Given the description of an element on the screen output the (x, y) to click on. 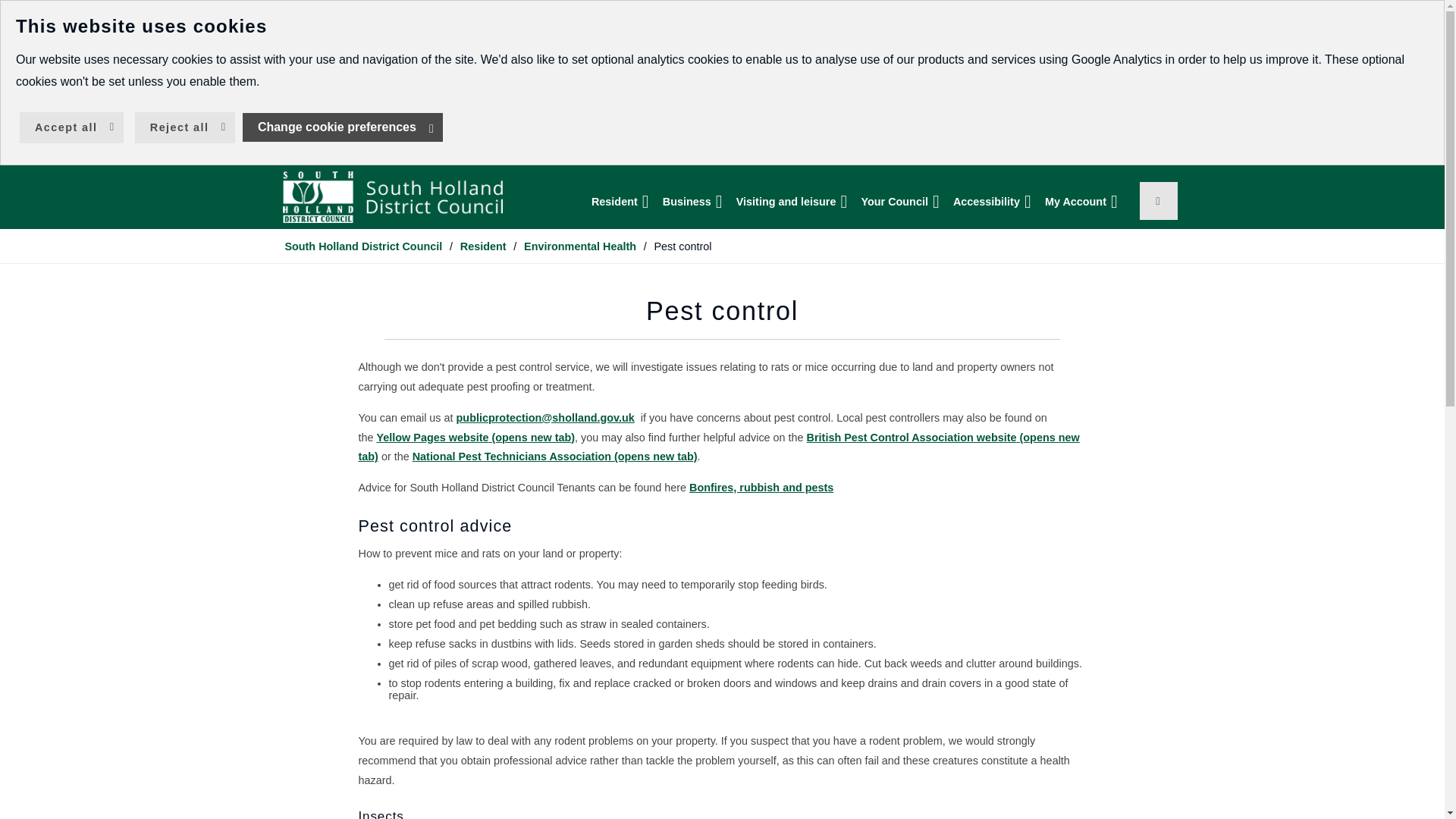
Search this website (1157, 200)
Reject all (185, 128)
Change cookie preferences (342, 127)
Resident (623, 201)
Visiting and leisure (794, 201)
Skip to main content (11, 11)
Accept all (71, 128)
Business (695, 201)
